Given the description of an element on the screen output the (x, y) to click on. 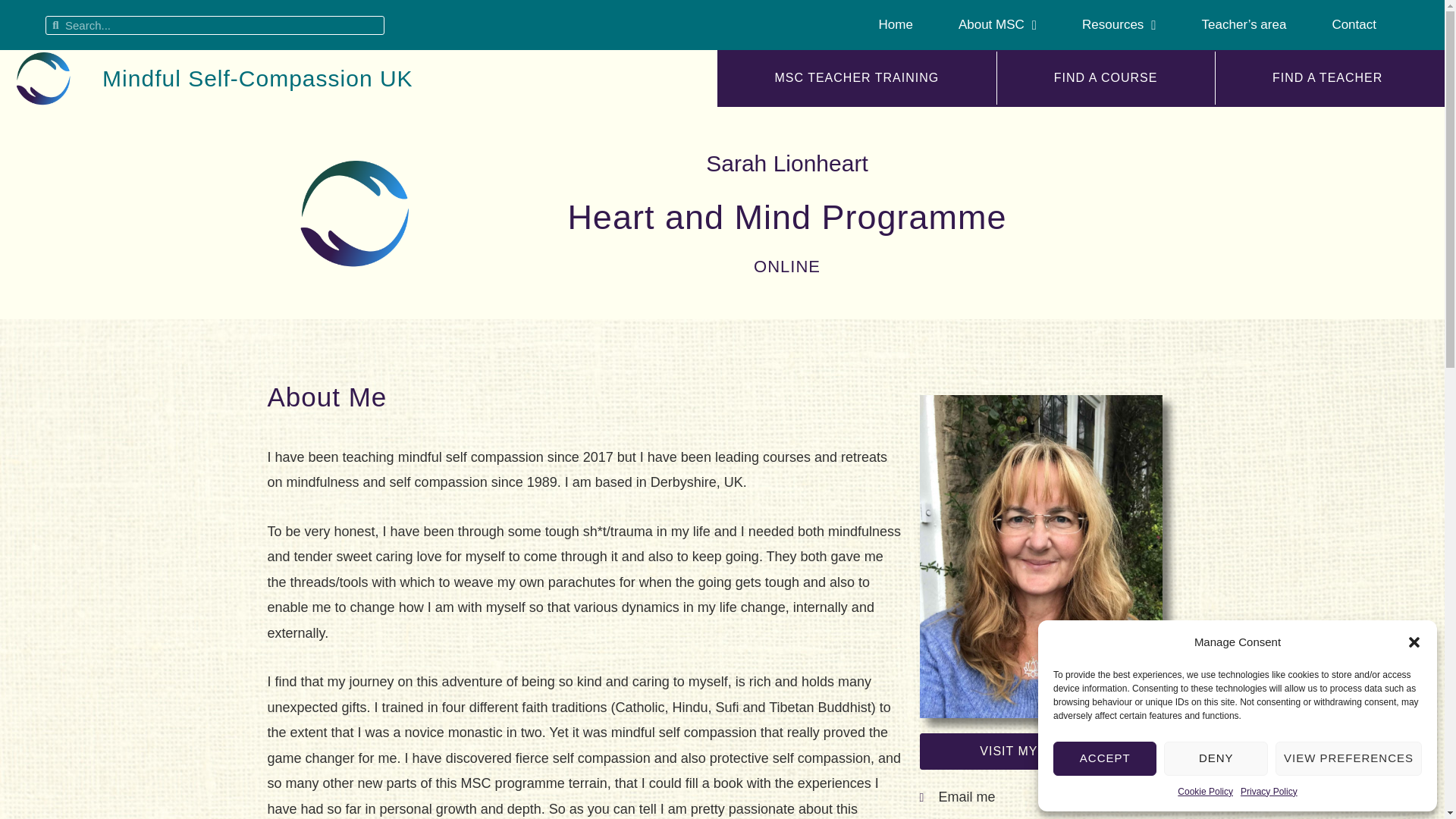
FIND A COURSE (1105, 77)
DENY (1214, 758)
MSC TEACHER TRAINING (856, 77)
FIND A TEACHER (1327, 77)
Privacy Policy (1268, 791)
About MSC (997, 24)
VIEW PREFERENCES (1348, 758)
Home (896, 24)
Resources (1118, 24)
Mindful Self-Compassion UK (256, 78)
Cookie Policy (1205, 791)
Contact (1353, 24)
ACCEPT (1104, 758)
